Given the description of an element on the screen output the (x, y) to click on. 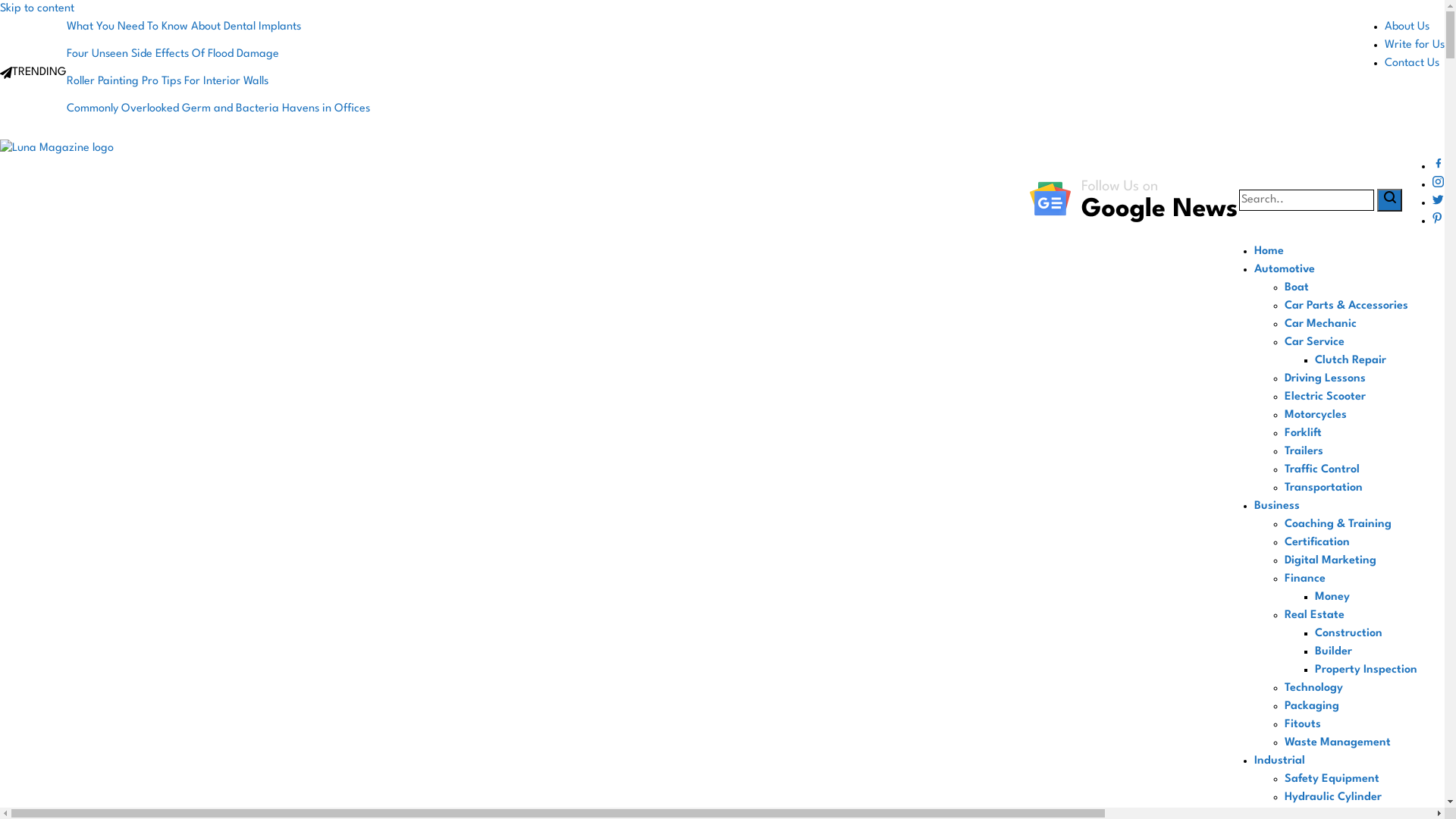
Home Element type: text (1268, 251)
Hydraulic Cylinder Element type: text (1332, 797)
Automotive Element type: text (1284, 269)
What You Need To Know About Dental Implants Element type: text (218, 27)
Trailers Element type: text (1303, 451)
Contact Us Element type: text (1411, 63)
Clutch Repair Element type: text (1350, 360)
Builder Element type: text (1333, 651)
Skip to content Element type: text (37, 8)
Industrial Element type: text (1279, 760)
Fitouts Element type: text (1302, 724)
Transportation Element type: text (1323, 487)
Packaging Element type: text (1311, 706)
Commonly Overlooked Germ and Bacteria Havens in Offices Element type: text (218, 109)
Write for Us Element type: text (1414, 44)
Money Element type: text (1331, 596)
Real Estate Element type: text (1314, 615)
Coaching & Training Element type: text (1337, 524)
Motorcycles Element type: text (1315, 414)
Finance Element type: text (1304, 578)
Property Inspection Element type: text (1365, 669)
Digital Marketing Element type: text (1330, 560)
About Us Element type: text (1406, 26)
Forklift Element type: text (1302, 433)
Four Unseen Side Effects Of Flood Damage Element type: text (218, 54)
Car Service Element type: text (1314, 342)
Electric Scooter Element type: text (1324, 396)
Construction Element type: text (1348, 633)
Certification Element type: text (1316, 542)
Roller Painting Pro Tips For Interior Walls Element type: text (218, 81)
Driving Lessons Element type: text (1324, 378)
Car Mechanic Element type: text (1320, 323)
Traffic Control Element type: text (1321, 469)
Car Parts & Accessories Element type: text (1346, 305)
Safety Equipment Element type: text (1331, 778)
Waste Management Element type: text (1337, 742)
Boat Element type: text (1296, 287)
Business Element type: text (1276, 505)
Technology Element type: text (1313, 687)
